Given the description of an element on the screen output the (x, y) to click on. 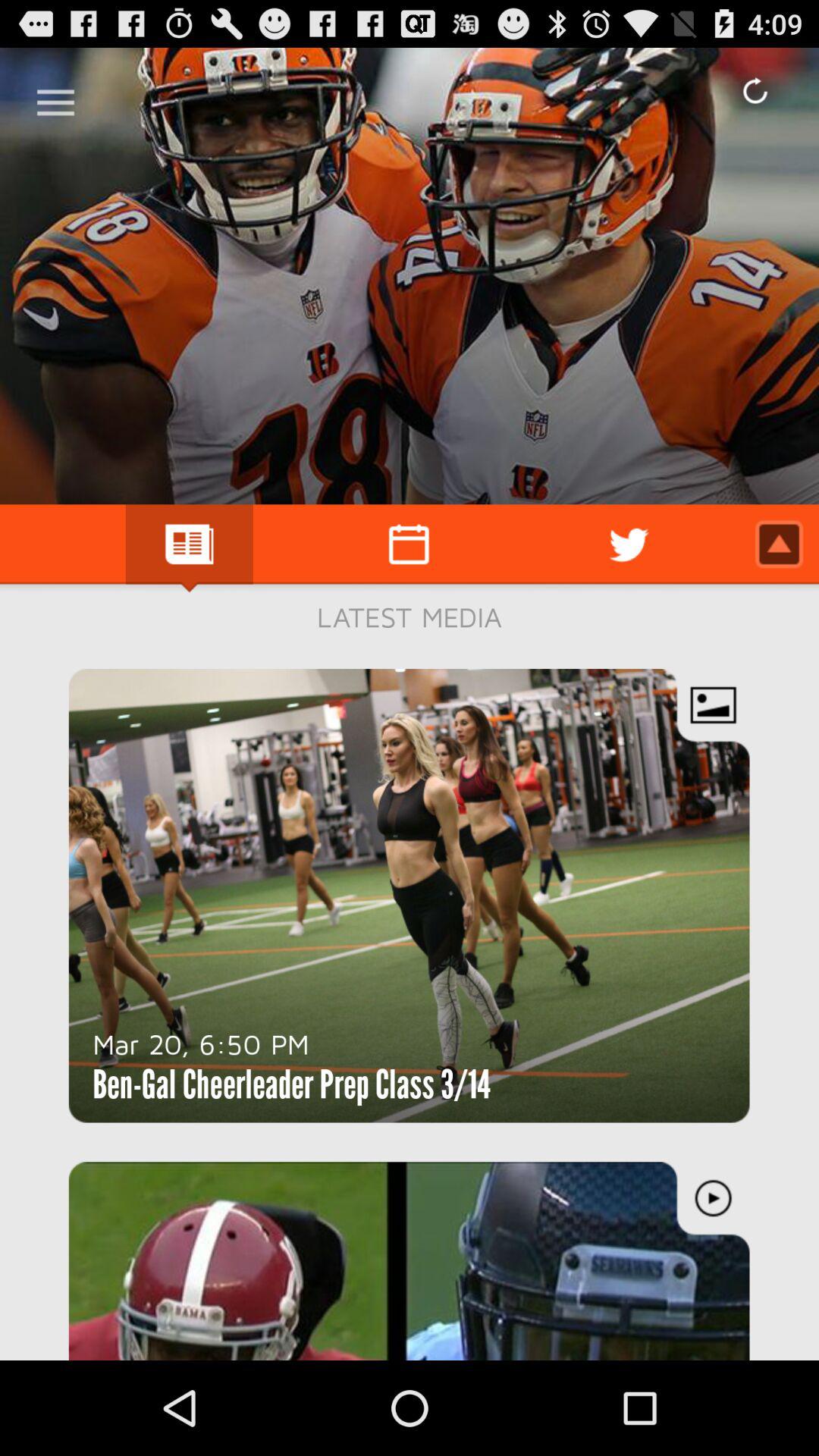
flip to the mar 20 6 icon (200, 1043)
